Given the description of an element on the screen output the (x, y) to click on. 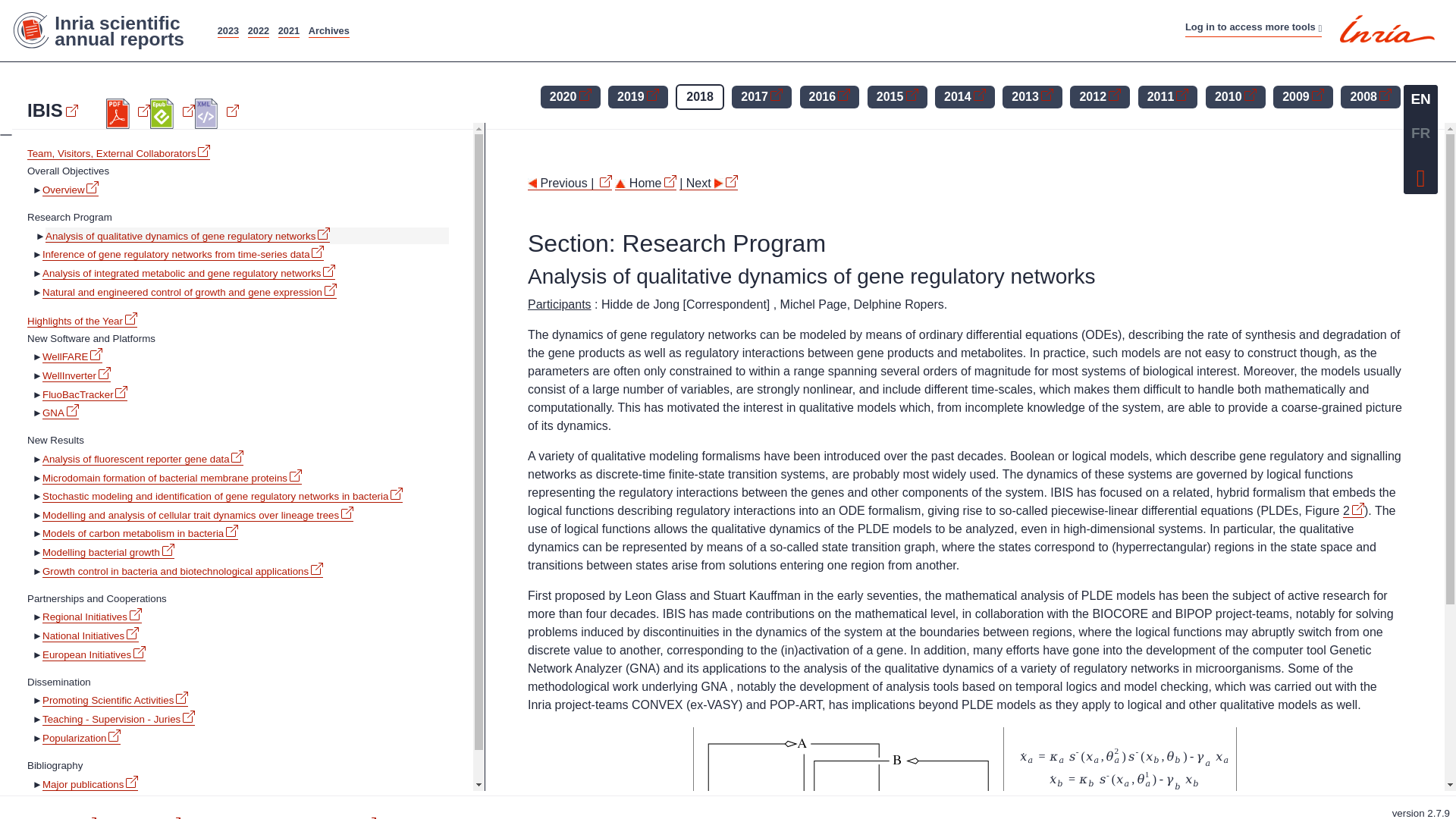
2023 (227, 30)
2022 annual reports (258, 30)
2022 (258, 30)
Home page - Inria scientific annual reports (106, 30)
2021 annual reports (288, 30)
Site map (686, 23)
IBIS (52, 110)
FR (1420, 133)
Current language en (1420, 99)
Accessibility (747, 23)
